Given the description of an element on the screen output the (x, y) to click on. 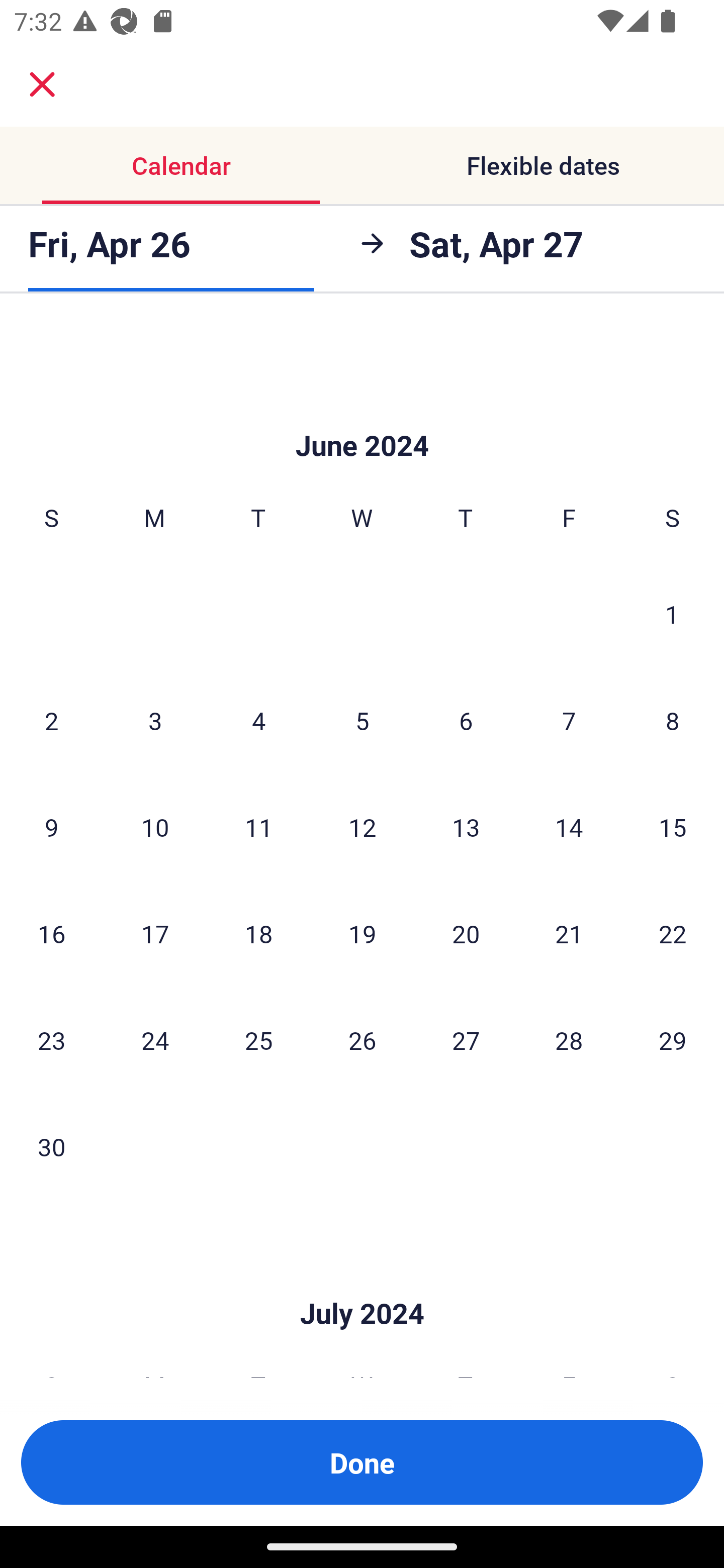
close. (42, 84)
Flexible dates (542, 164)
Skip to Done (362, 415)
1 Saturday, June 1, 2024 (672, 613)
2 Sunday, June 2, 2024 (51, 720)
3 Monday, June 3, 2024 (155, 720)
4 Tuesday, June 4, 2024 (258, 720)
5 Wednesday, June 5, 2024 (362, 720)
6 Thursday, June 6, 2024 (465, 720)
7 Friday, June 7, 2024 (569, 720)
8 Saturday, June 8, 2024 (672, 720)
9 Sunday, June 9, 2024 (51, 827)
10 Monday, June 10, 2024 (155, 827)
11 Tuesday, June 11, 2024 (258, 827)
12 Wednesday, June 12, 2024 (362, 827)
13 Thursday, June 13, 2024 (465, 827)
14 Friday, June 14, 2024 (569, 827)
15 Saturday, June 15, 2024 (672, 827)
16 Sunday, June 16, 2024 (51, 932)
17 Monday, June 17, 2024 (155, 932)
18 Tuesday, June 18, 2024 (258, 932)
19 Wednesday, June 19, 2024 (362, 932)
20 Thursday, June 20, 2024 (465, 932)
21 Friday, June 21, 2024 (569, 932)
22 Saturday, June 22, 2024 (672, 932)
23 Sunday, June 23, 2024 (51, 1039)
24 Monday, June 24, 2024 (155, 1039)
25 Tuesday, June 25, 2024 (258, 1039)
26 Wednesday, June 26, 2024 (362, 1039)
27 Thursday, June 27, 2024 (465, 1039)
28 Friday, June 28, 2024 (569, 1039)
29 Saturday, June 29, 2024 (672, 1039)
30 Sunday, June 30, 2024 (51, 1145)
Skip to Done (362, 1283)
Done (361, 1462)
